Given the description of an element on the screen output the (x, y) to click on. 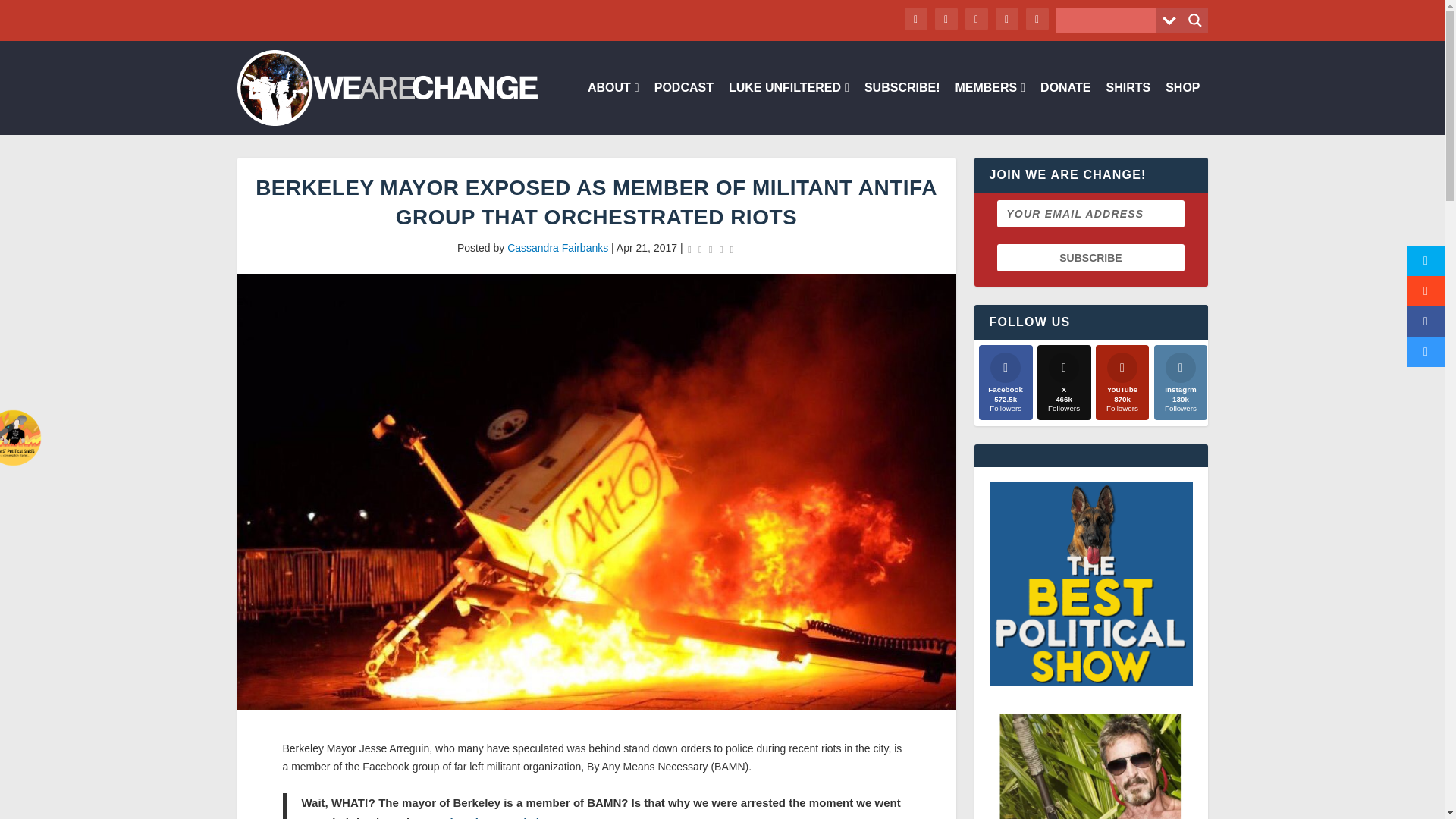
About (613, 108)
Subscribe (1090, 257)
SUBSCRIBE! (902, 108)
Posts by Cassandra Fairbanks (557, 247)
Cassandra Fairbanks (557, 247)
ABOUT (613, 108)
PODCAST (683, 108)
MEMBERS (990, 108)
LUKE UNFILTERED (788, 108)
DONATE (1065, 108)
Rating: 3.50 (710, 248)
